Given the description of an element on the screen output the (x, y) to click on. 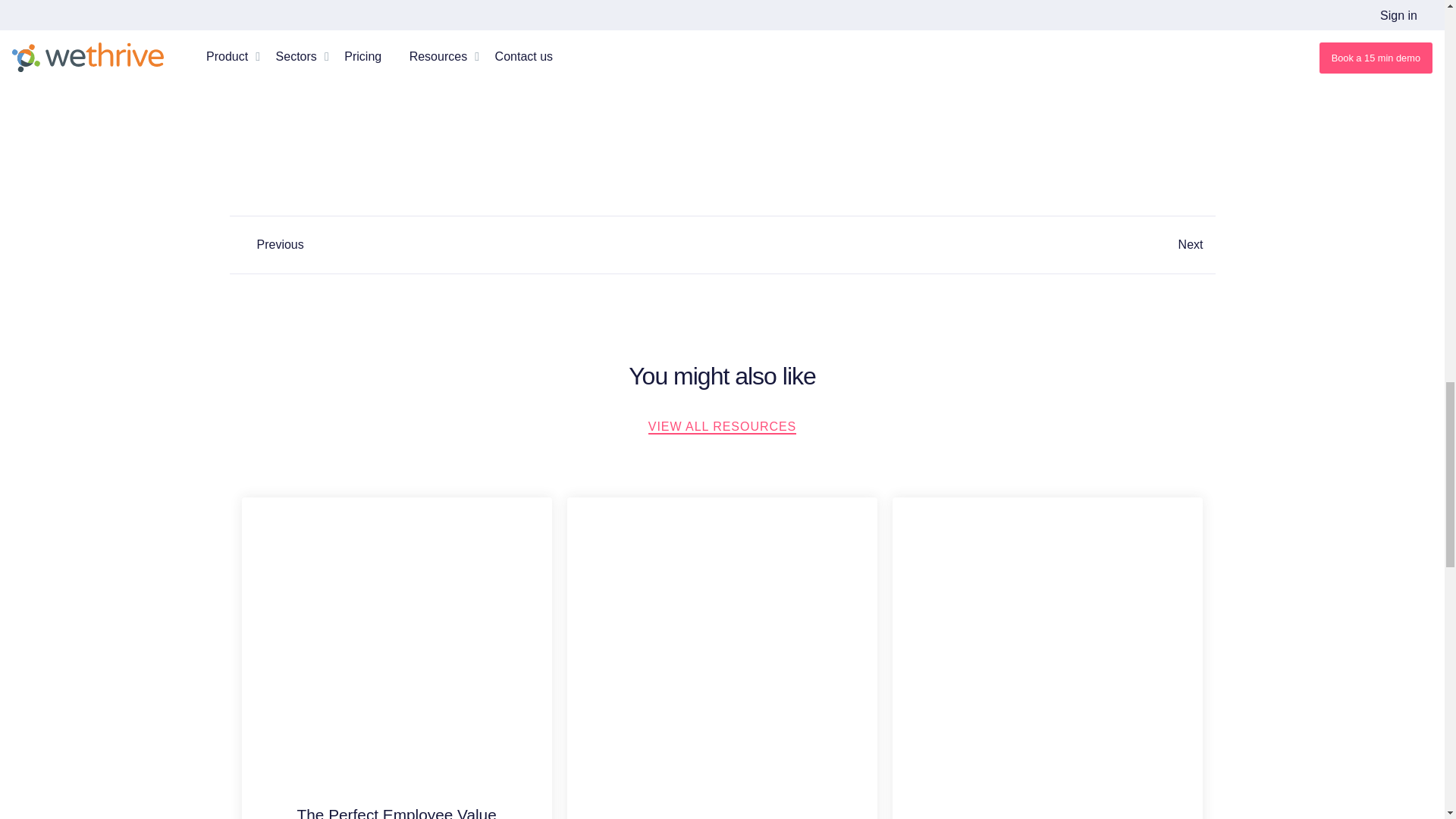
Share this on Twitter (733, 187)
Share this on LinkedIn (722, 187)
Share this on Facebook (709, 187)
